Given the description of an element on the screen output the (x, y) to click on. 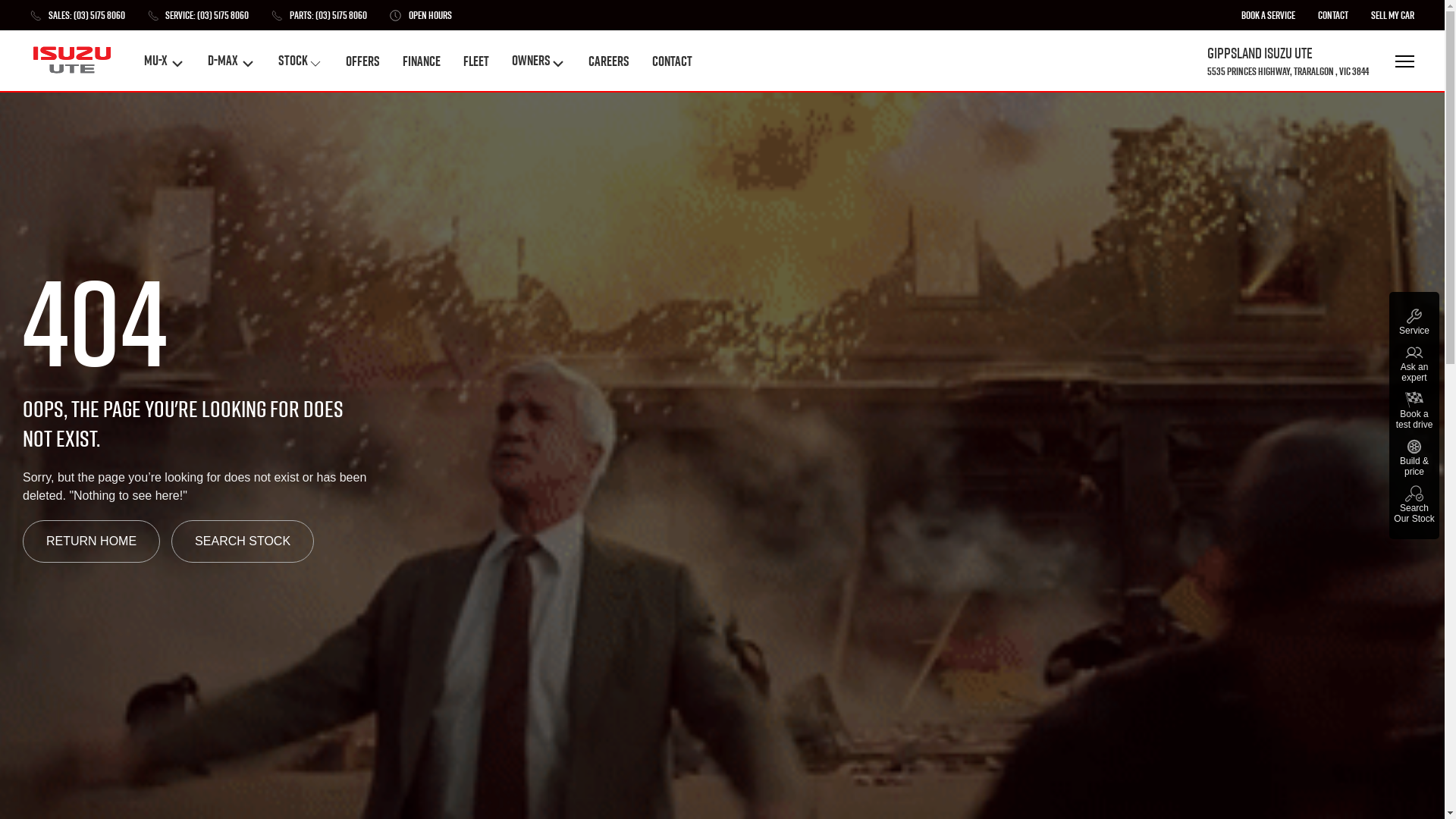
SEARCH STOCK Element type: text (242, 541)
OFFERS Element type: text (362, 60)
Ask an expert Element type: text (1414, 362)
Book a Service Element type: text (1268, 15)
OWNERS Element type: text (538, 60)
Parts: (03) 5175 8060 Element type: text (319, 15)
Careers Element type: text (608, 60)
Fleet Element type: text (476, 60)
Build & price Element type: text (1414, 456)
Open Hours Element type: text (420, 15)
D-MAX
D-MAX Element type: text (231, 60)
STOCK Element type: text (300, 60)
RETURN HOME Element type: text (91, 541)
Service: (03) 5175 8060 Element type: text (197, 15)
More Element type: hover (1402, 60)
Sell My Car Element type: text (1392, 15)
Contact Element type: text (672, 60)
Finance Element type: text (421, 60)
Sales: (03) 5175 8060 Element type: text (77, 15)
MU-X
MU-X Element type: text (164, 60)
Service Element type: text (1414, 321)
Contact Element type: text (1332, 15)
Search Our Stock Element type: text (1414, 504)
Book a test drive Element type: text (1414, 409)
